Given the description of an element on the screen output the (x, y) to click on. 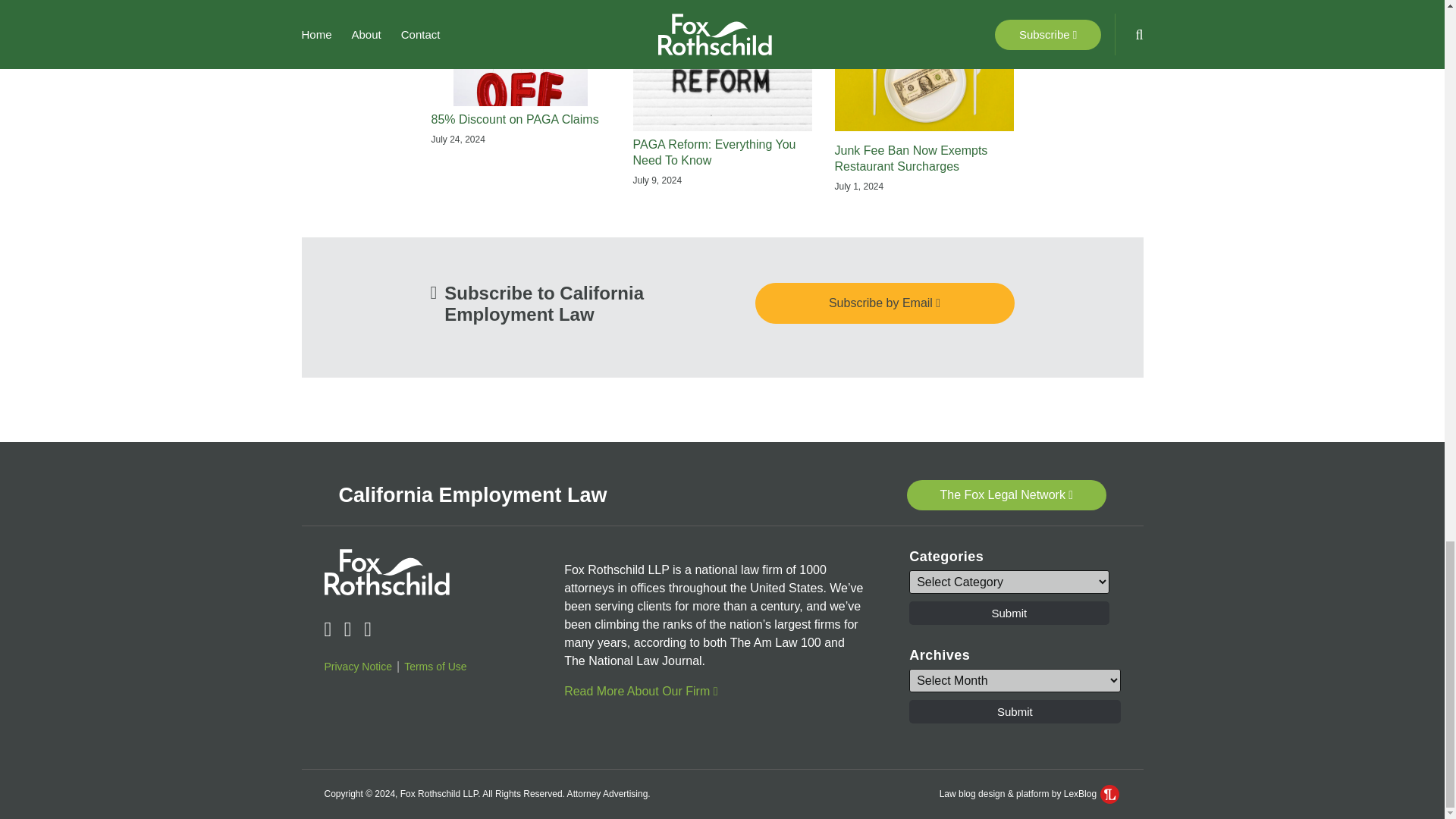
Privacy Notice (357, 666)
Submit (1008, 612)
Subscribe to this blog via RSS (327, 629)
Read More About Our Firm (640, 690)
LexBlog Logo (1109, 793)
Submit (1008, 612)
PAGA Reform: Everything You Need To Know (720, 152)
The Fox Legal Network (1006, 494)
Subscribe by Email (884, 302)
Follow Us on Twitter (367, 629)
California Employment Law (472, 495)
View Our LinkedIn Profile (347, 629)
Junk Fee Ban Now Exempts Restaurant Surcharges (923, 159)
Terms of Use (434, 666)
Submit (1013, 711)
